Given the description of an element on the screen output the (x, y) to click on. 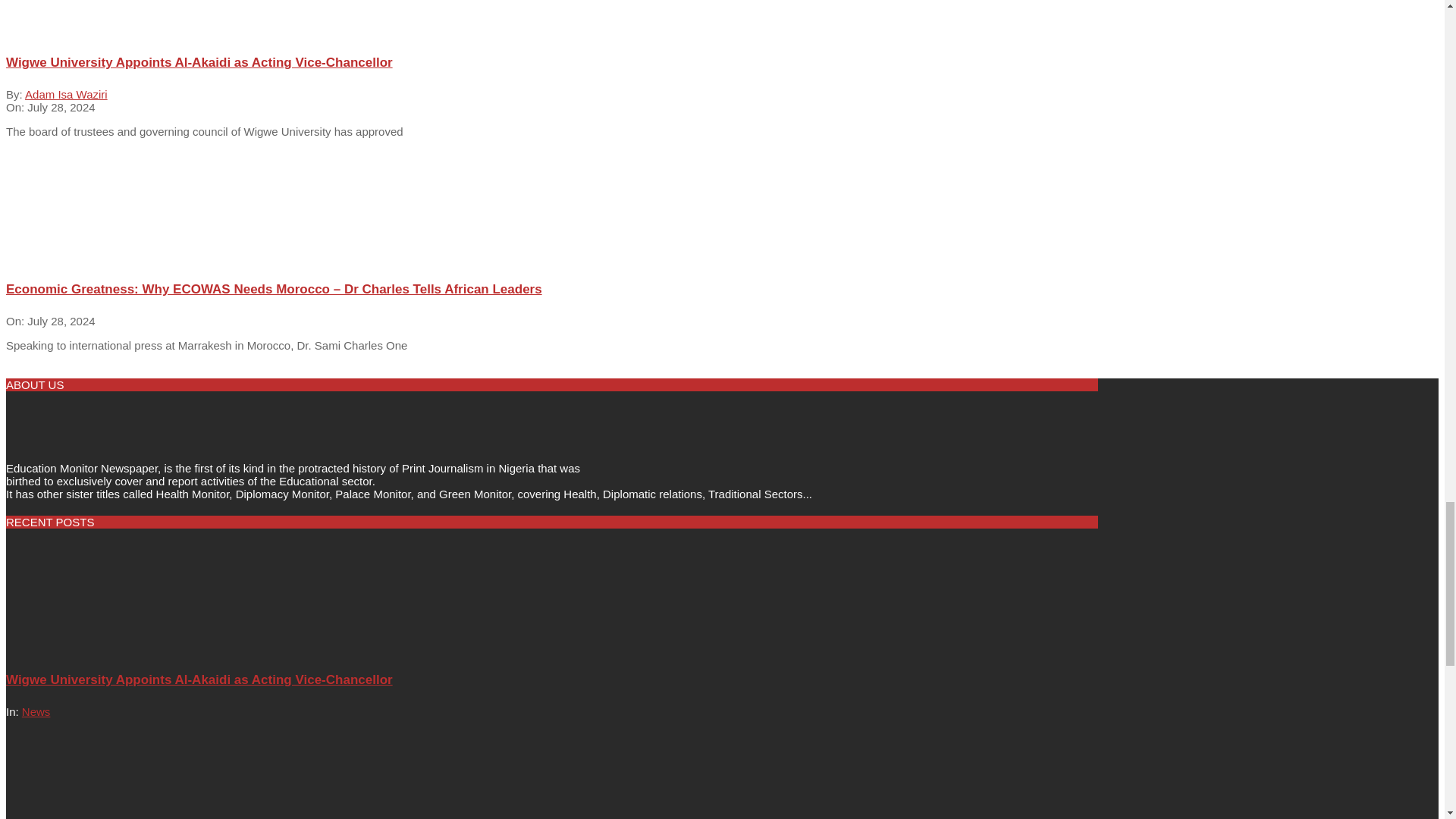
Sunday, July 28, 2024, 5:51 pm (60, 320)
Sunday, July 28, 2024, 5:56 pm (60, 106)
Posts by Adam Isa Waziri (65, 93)
Adam Isa Waziri (65, 93)
